Given the description of an element on the screen output the (x, y) to click on. 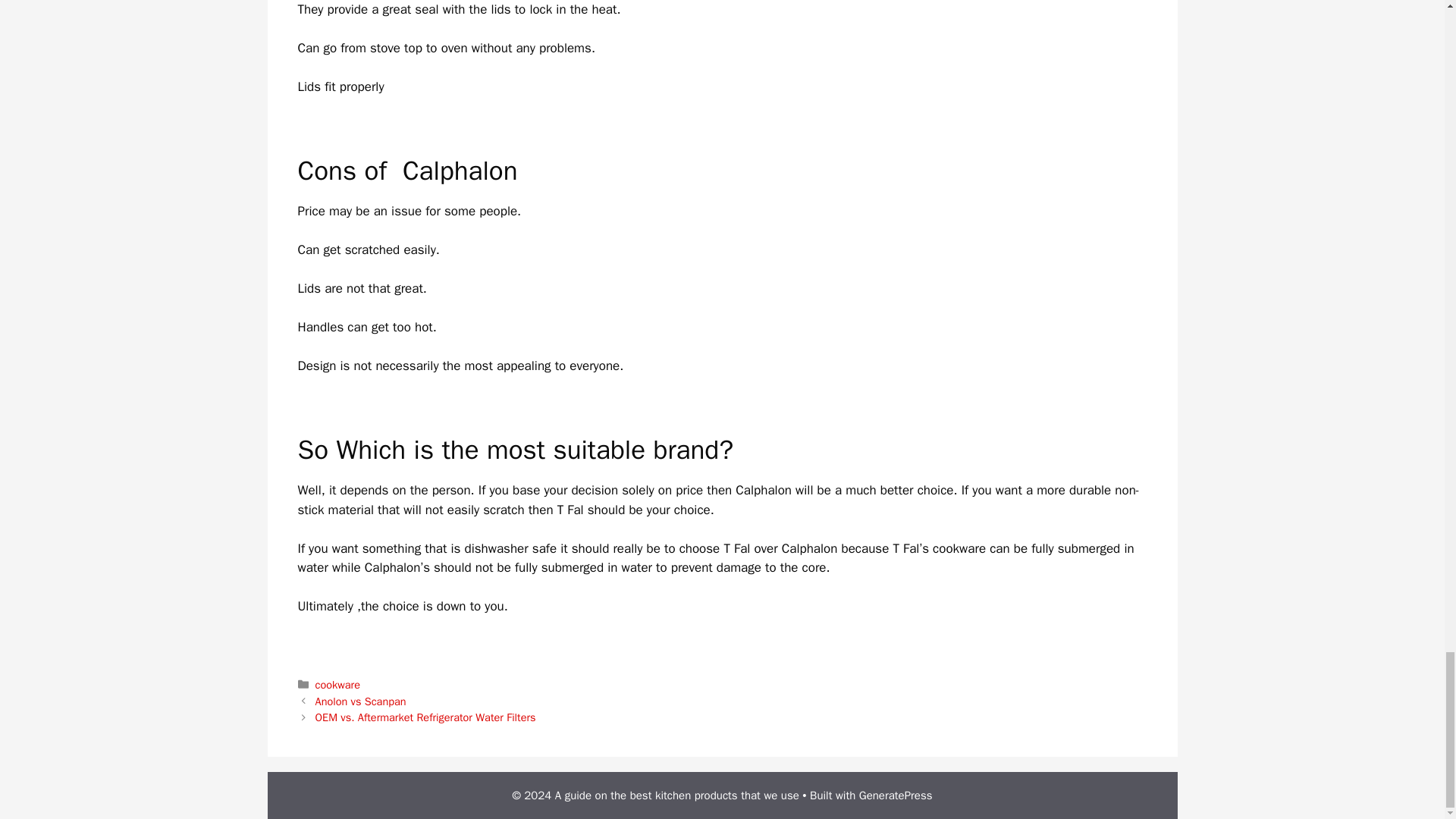
OEM vs. Aftermarket Refrigerator Water Filters (425, 716)
GeneratePress (896, 795)
Anolon vs Scanpan (360, 701)
cookware (337, 684)
